Given the description of an element on the screen output the (x, y) to click on. 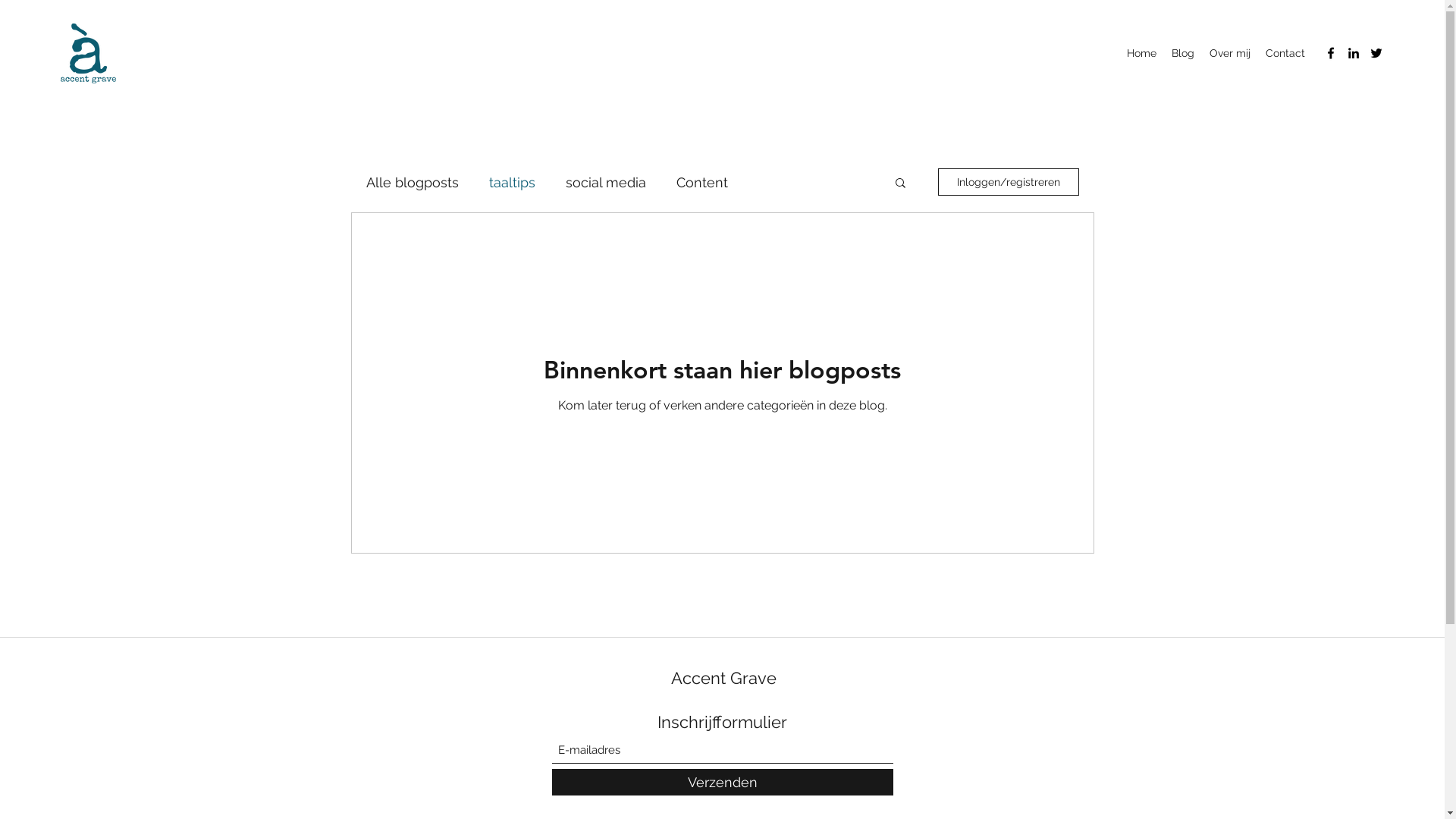
Over mij Element type: text (1229, 52)
taaltips Element type: text (511, 182)
Verzenden Element type: text (722, 781)
Contact Element type: text (1285, 52)
Alle blogposts Element type: text (411, 182)
Home Element type: text (1141, 52)
social media Element type: text (605, 182)
Accent Grave Element type: text (723, 677)
Blog Element type: text (1182, 52)
Content Element type: text (702, 182)
Inloggen/registreren Element type: text (1007, 181)
